Given the description of an element on the screen output the (x, y) to click on. 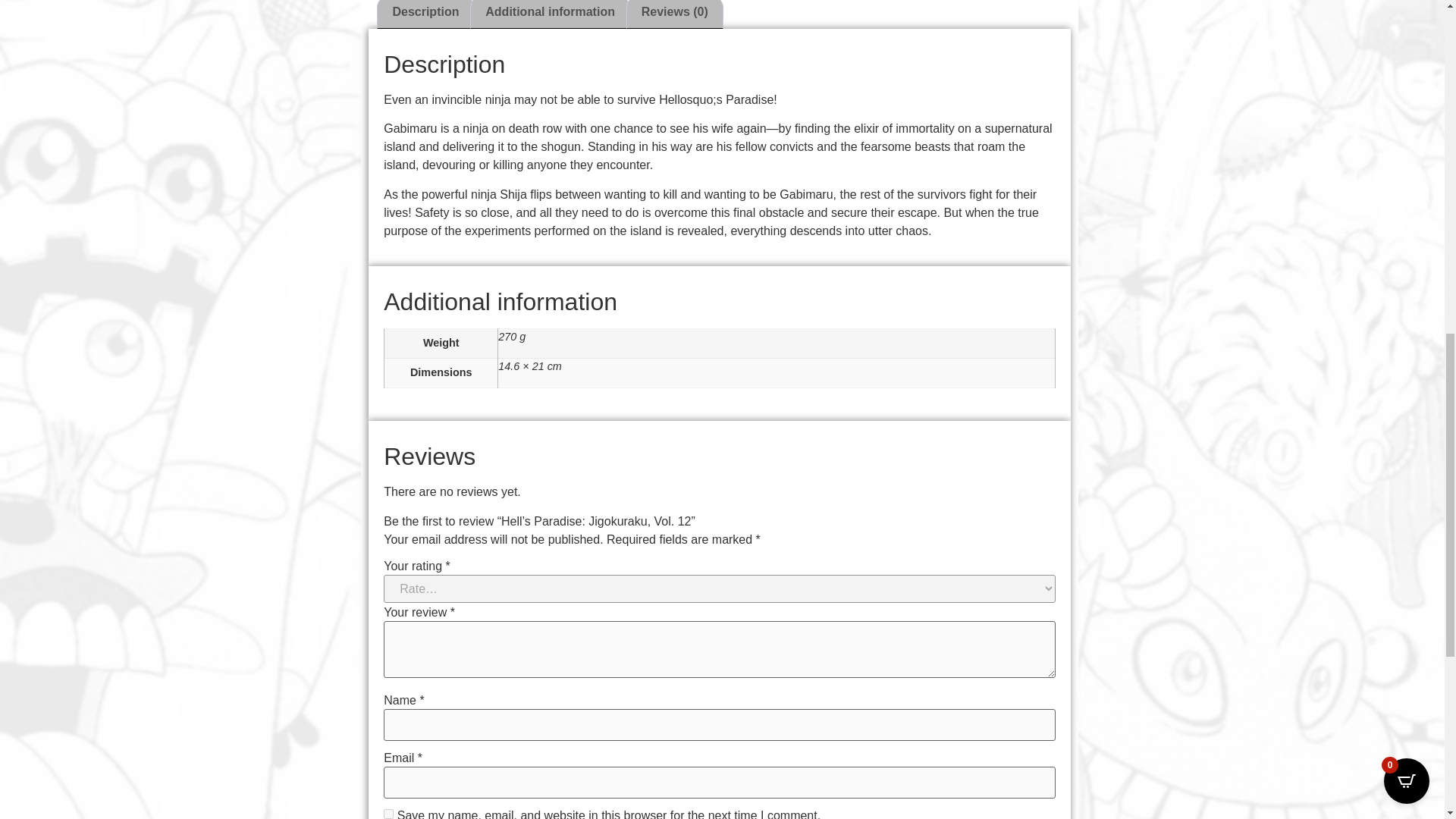
yes (388, 814)
